Given the description of an element on the screen output the (x, y) to click on. 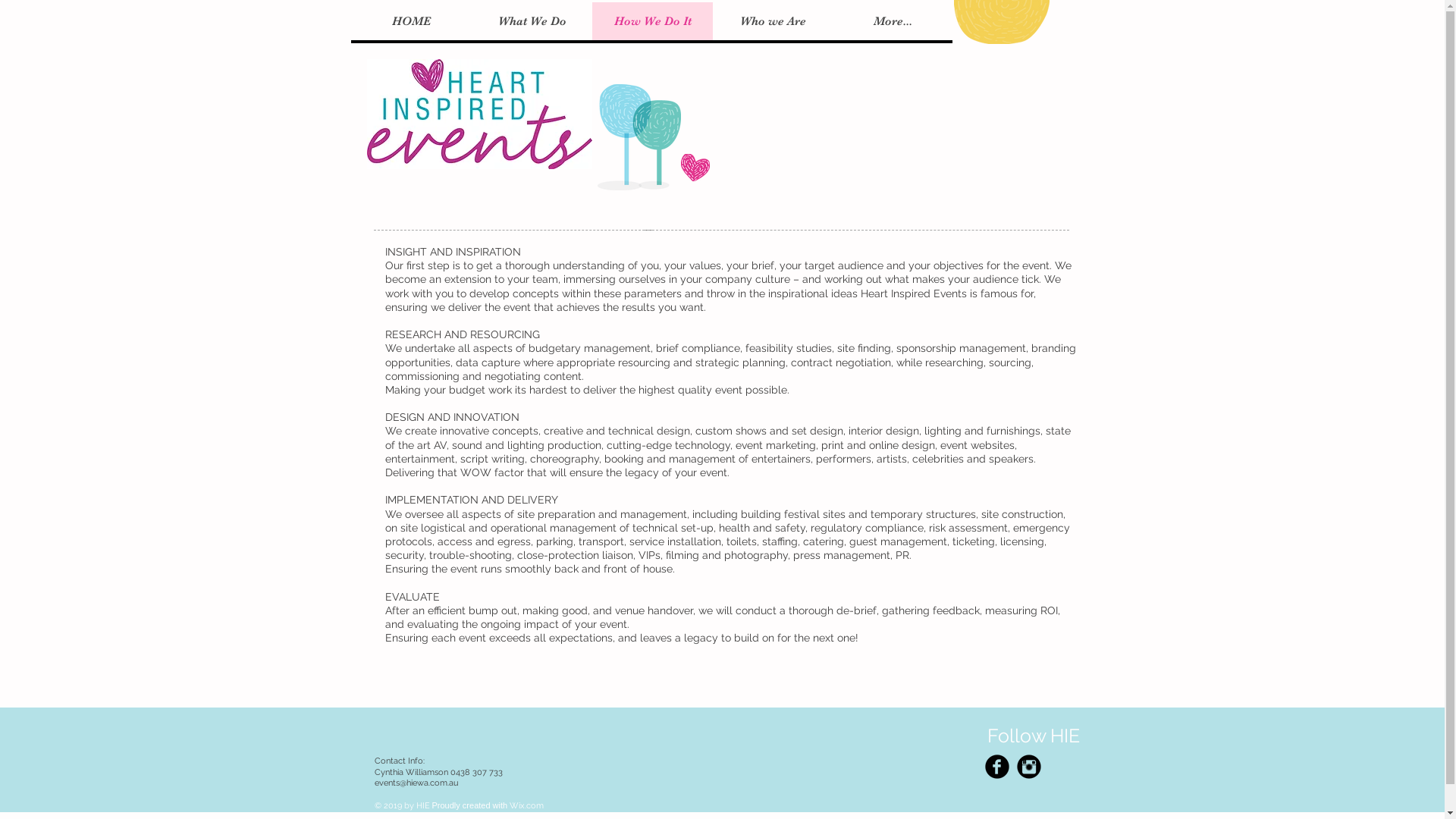
HOME Element type: text (410, 21)
Who we Are Element type: text (772, 21)
Wix.com Element type: text (526, 805)
What We Do Element type: text (531, 21)
hie.png Element type: hover (479, 114)
events@hiewa.com.au Element type: text (416, 782)
How We Do It Element type: text (651, 21)
